Given the description of an element on the screen output the (x, y) to click on. 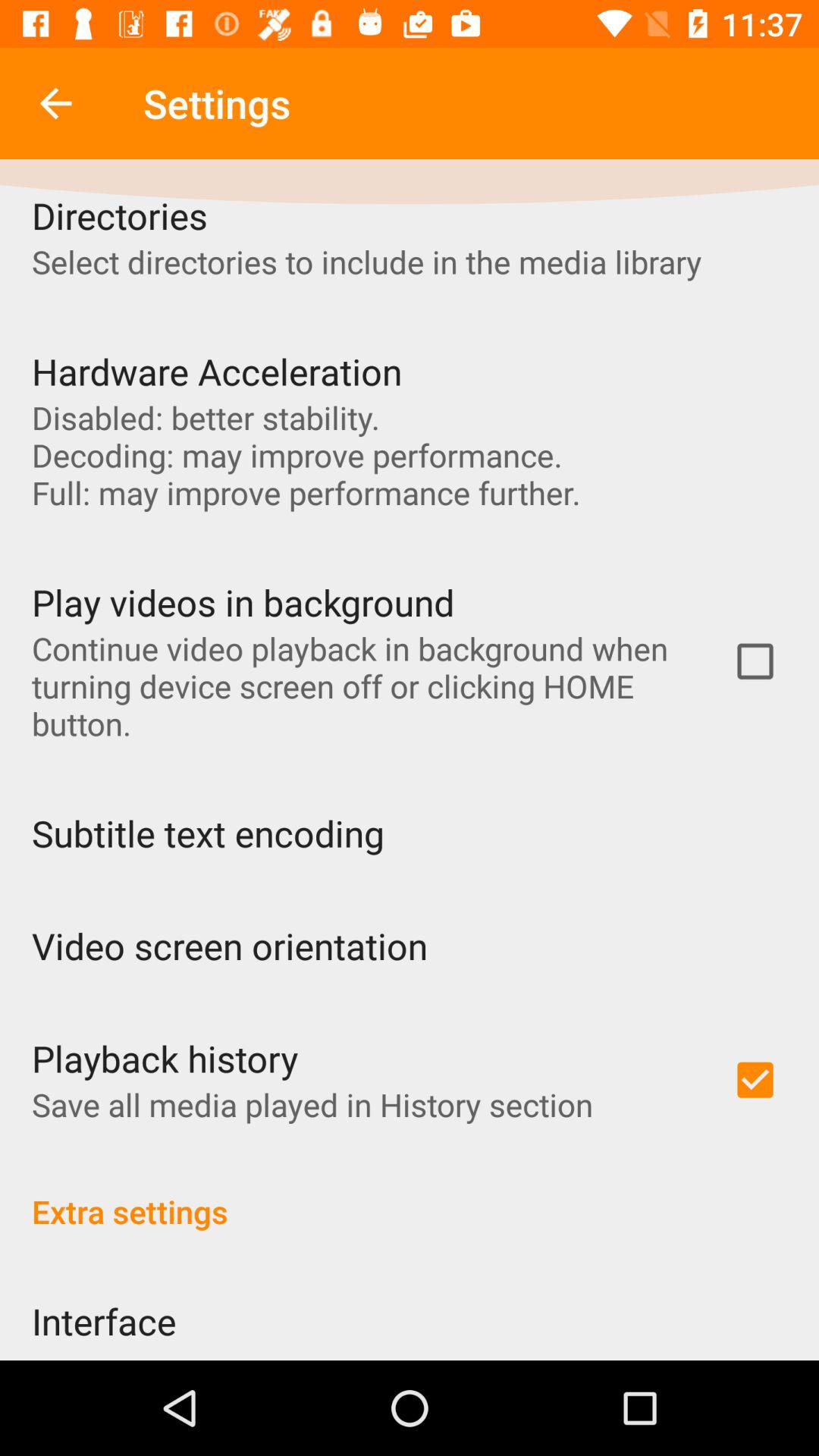
press the item above directories (55, 103)
